Given the description of an element on the screen output the (x, y) to click on. 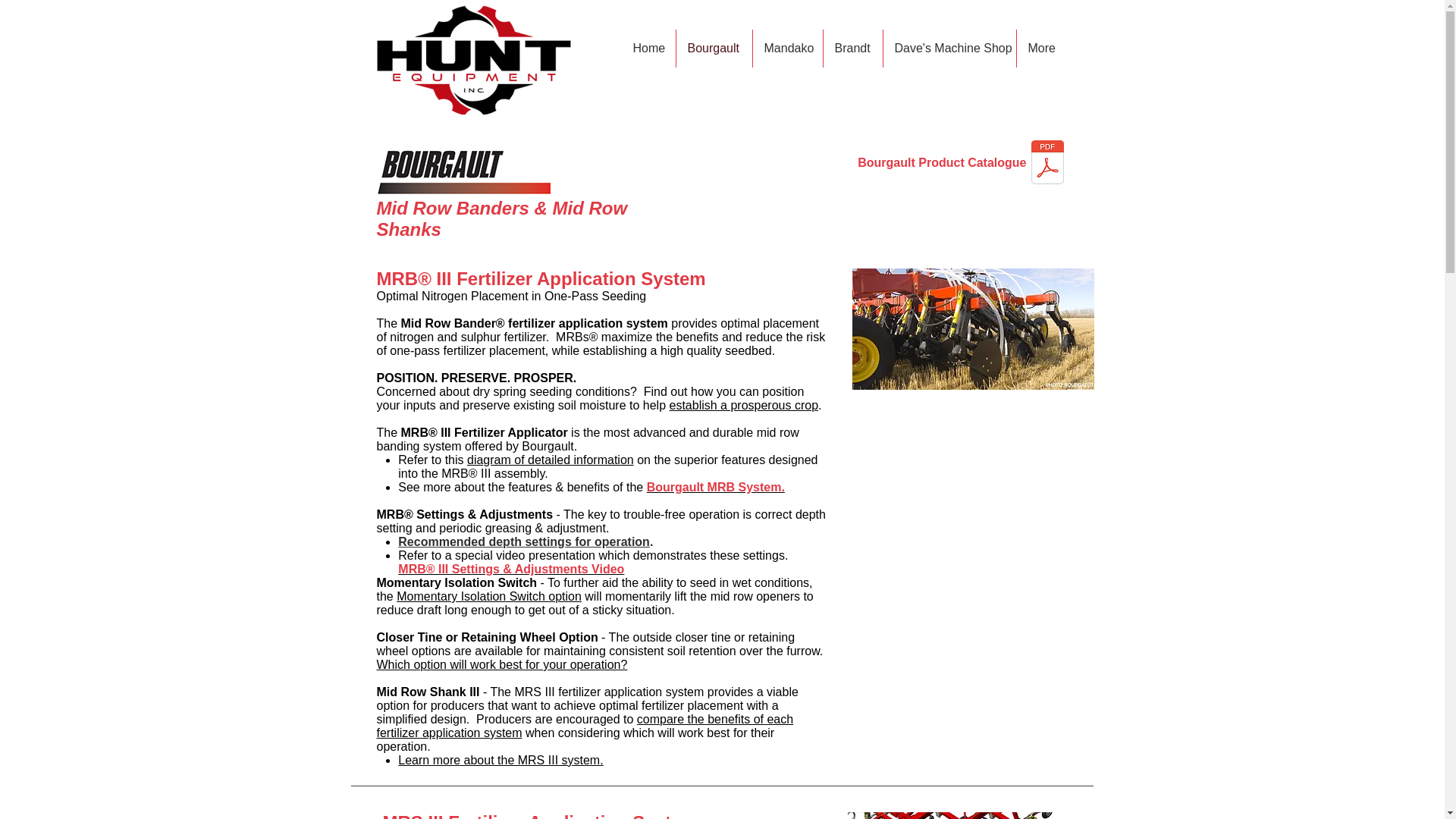
Momentary Isolation Switch option (488, 595)
Recommended depth settings for operation (523, 541)
Learn more about the MRS III system. (499, 759)
Bourgault MRB System. (715, 486)
diagram of detailed information (550, 459)
Bourgault (714, 48)
Home (648, 48)
establish a prosperous crop (743, 404)
Which option will work best for your operation? (501, 664)
Dave's Machine Shop (948, 48)
compare the benefits of each fertilizer application system (584, 725)
Brandt (853, 48)
Mandako (787, 48)
